Given the description of an element on the screen output the (x, y) to click on. 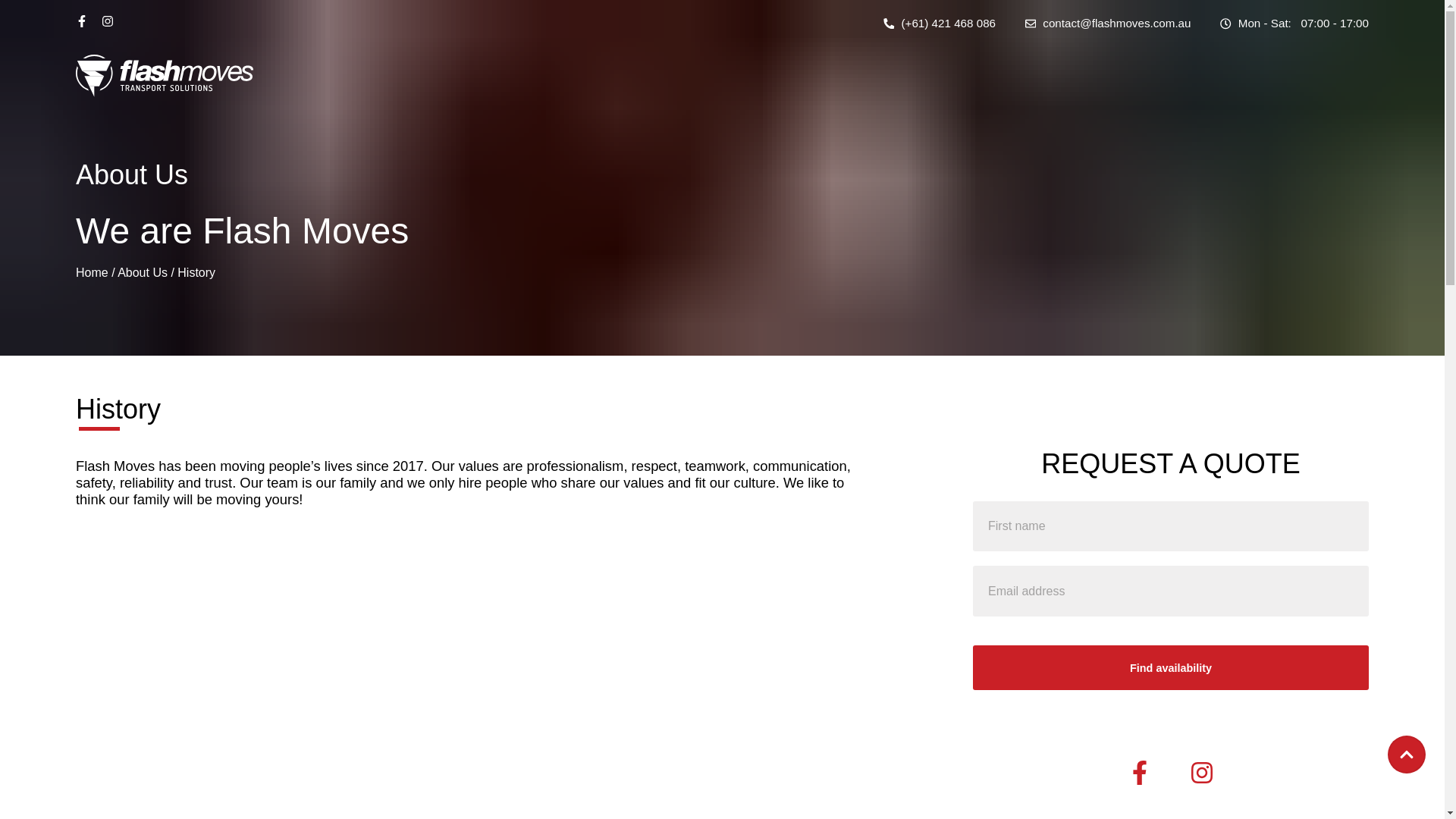
Commercial relocations Element type: text (534, 579)
History Element type: text (801, 555)
Tevincocin Element type: text (1343, 804)
Vision and Principles Element type: text (838, 579)
Courier Element type: text (491, 625)
Delivery solutions Element type: text (519, 695)
Storage solutions Element type: text (518, 602)
Packing Services and Supplies Element type: text (555, 648)
Home Element type: text (91, 272)
Provide a Review Element type: text (1146, 602)
contact@flashmoves.com.au Element type: text (1108, 22)
Certifications and Accreditations Element type: text (869, 602)
Contact Us Element type: text (1129, 555)
Online Quote Element type: text (1134, 579)
Residential moving Element type: text (522, 555)
Find availability Element type: text (1170, 667)
Corporate Responsibility Element type: text (848, 625)
(+61) 421 468 086 Element type: text (939, 22)
Event Logistics Element type: text (512, 672)
